Given the description of an element on the screen output the (x, y) to click on. 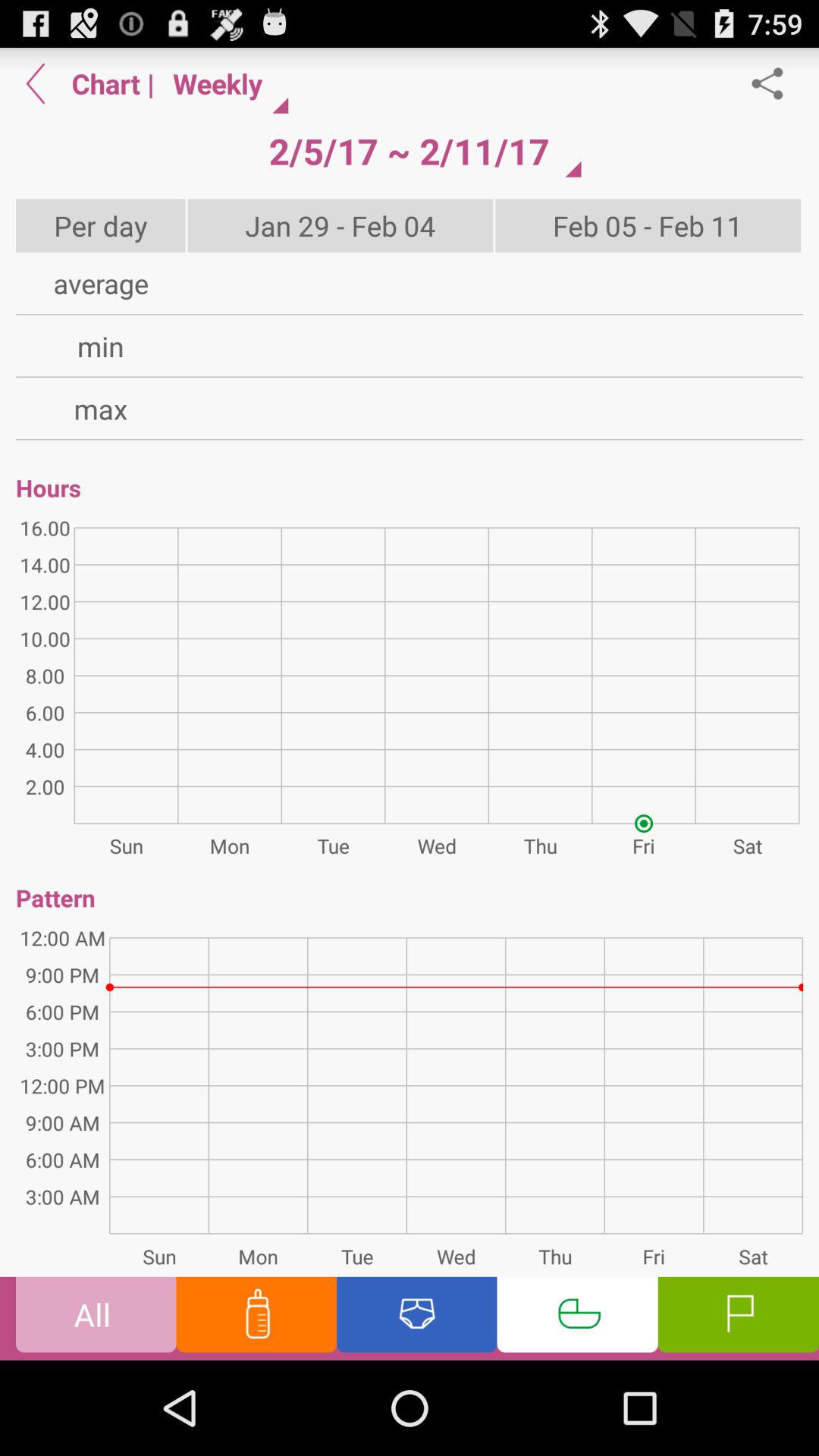
select the app to the left of the chart app (35, 83)
